Given the description of an element on the screen output the (x, y) to click on. 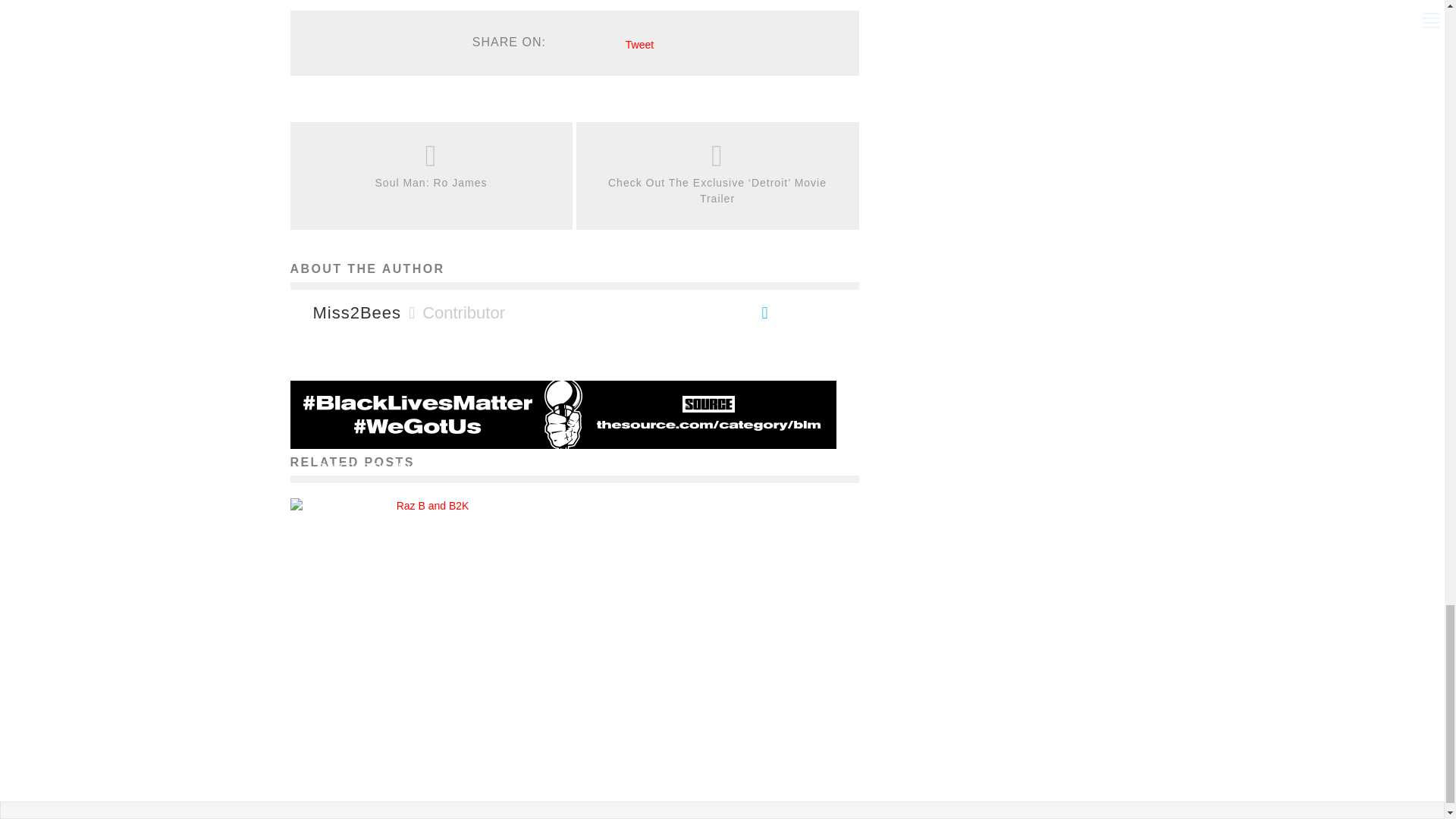
Tweet (639, 44)
Miss2Bees (357, 312)
Soul Man: Ro James (430, 182)
